Given the description of an element on the screen output the (x, y) to click on. 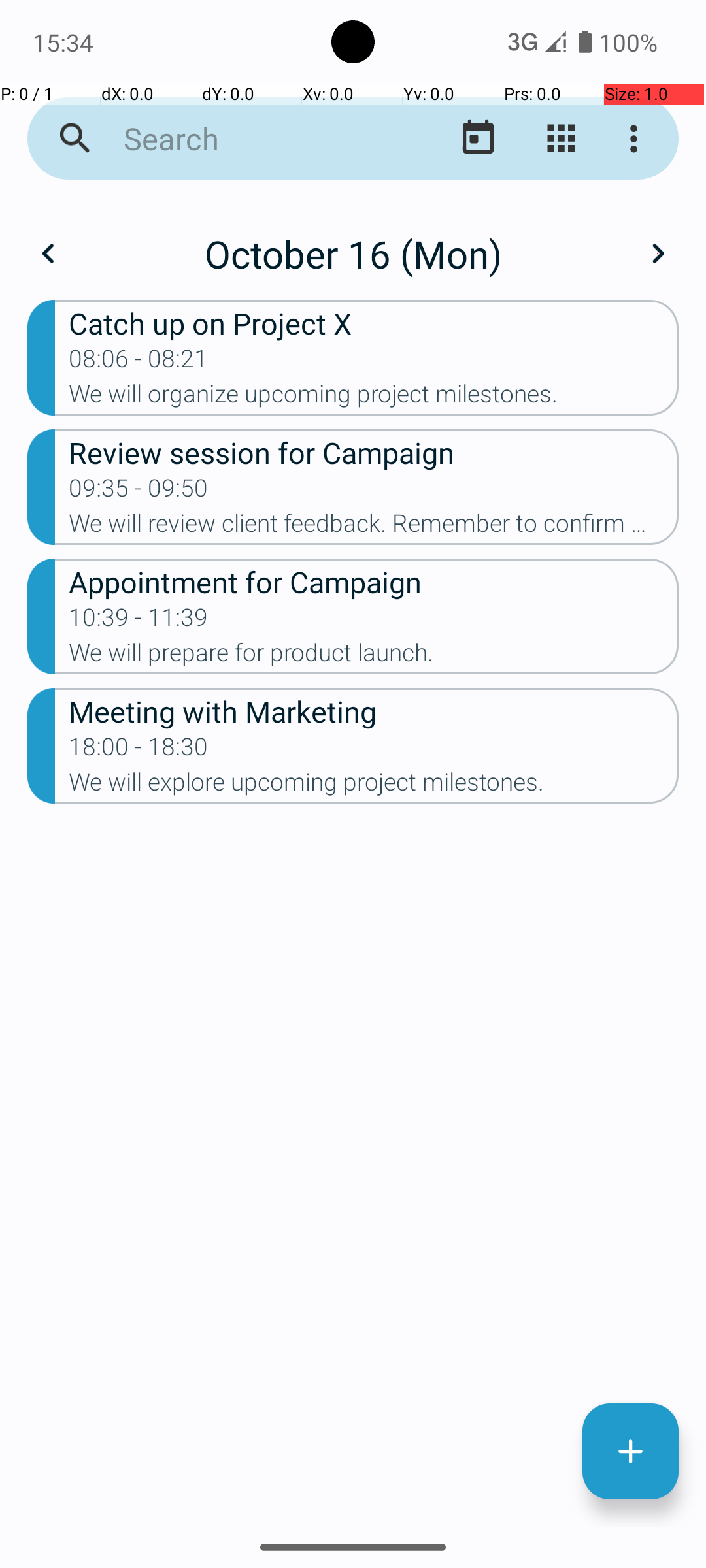
Go to today Element type: android.widget.Button (477, 138)
Change view Element type: android.widget.Button (560, 138)
New Event Element type: android.widget.ImageButton (630, 1451)
October 16 (Mon) Element type: android.widget.TextView (352, 253)
Catch up on Project X Element type: android.widget.TextView (373, 321)
08:06 - 08:21 Element type: android.widget.TextView (137, 362)
We will organize upcoming project milestones. Element type: android.widget.TextView (373, 397)
Review session for Campaign Element type: android.widget.TextView (373, 451)
09:35 - 09:50 Element type: android.widget.TextView (137, 491)
We will review client feedback. Remember to confirm attendance. Element type: android.widget.TextView (373, 526)
Appointment for Campaign Element type: android.widget.TextView (373, 580)
10:39 - 11:39 Element type: android.widget.TextView (137, 620)
We will prepare for product launch. Element type: android.widget.TextView (373, 656)
Meeting with Marketing Element type: android.widget.TextView (373, 710)
18:00 - 18:30 Element type: android.widget.TextView (137, 750)
We will explore upcoming project milestones. Element type: android.widget.TextView (373, 785)
